Given the description of an element on the screen output the (x, y) to click on. 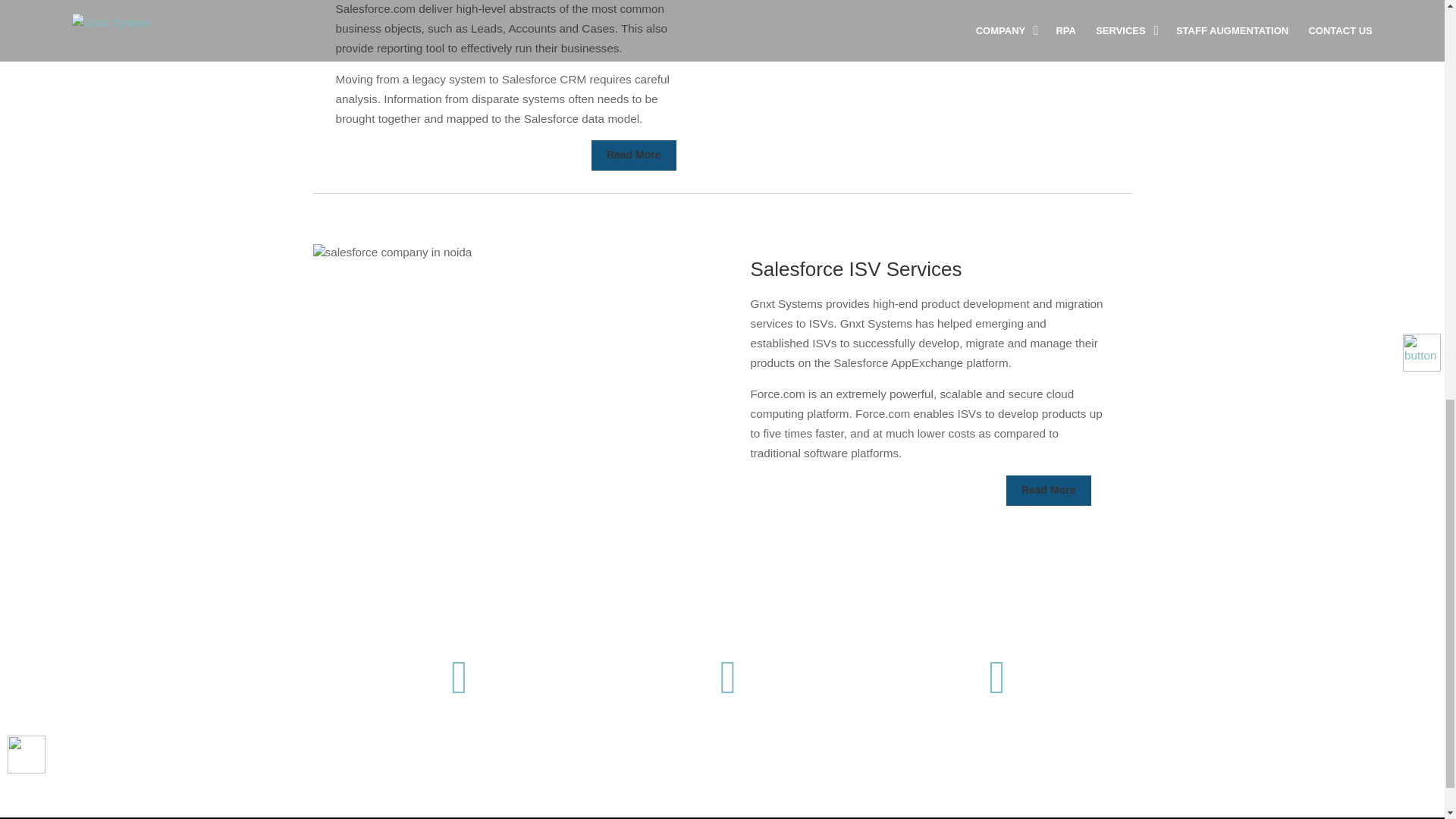
JOIN THE CONVERSATION (459, 795)
Twitter (728, 706)
Read More (1048, 490)
Linkedin (997, 706)
Facebook (459, 706)
FOLLOW US ON TWITTER (728, 795)
Read More (634, 155)
FOLLOW US ON LINKEDIN (997, 795)
